Given the description of an element on the screen output the (x, y) to click on. 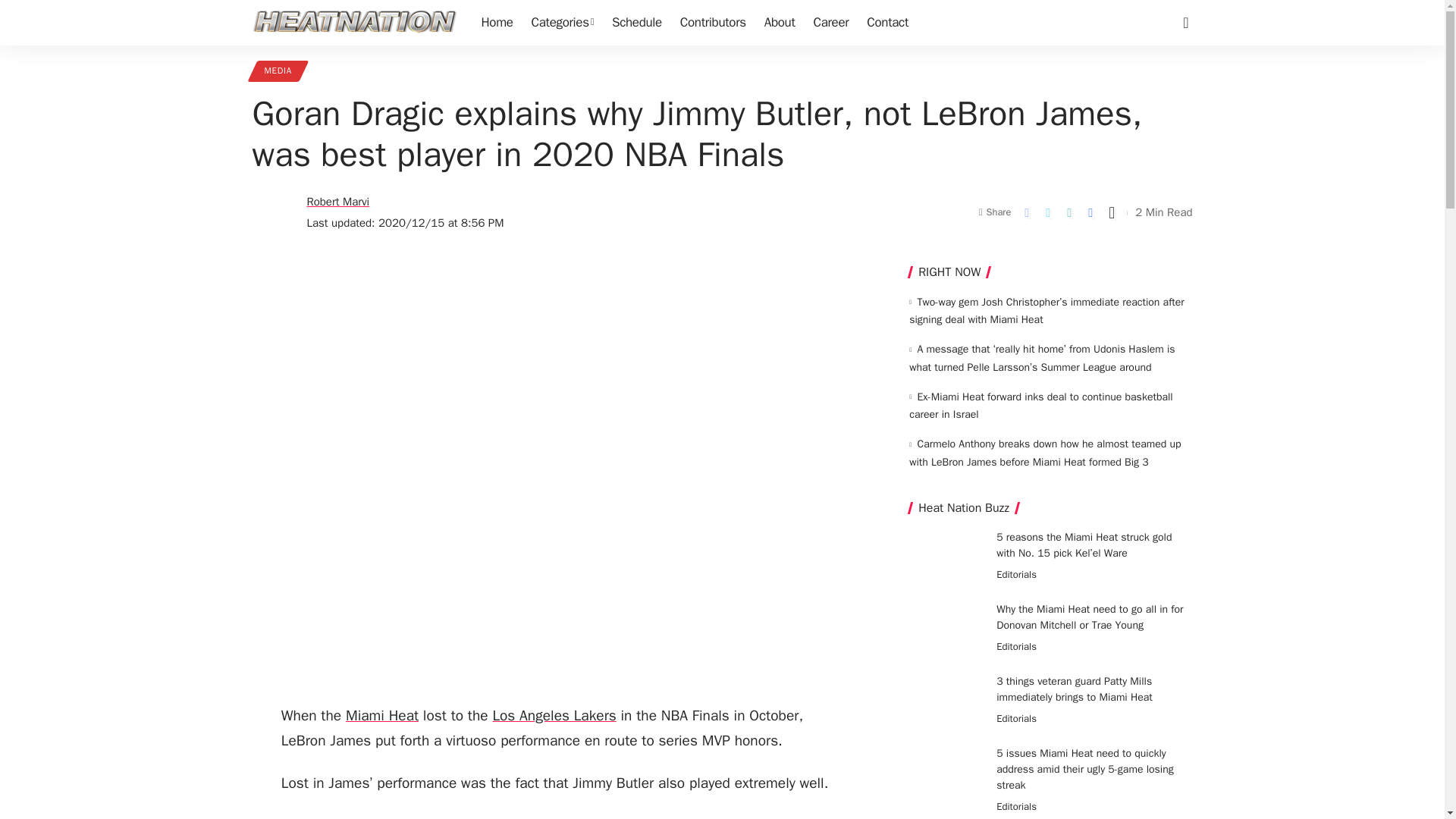
MEDIA (276, 70)
Los Angeles Lakers (553, 715)
Categories (562, 22)
Miami Heat (382, 715)
Los Angeles Lakers (553, 715)
Robert Marvi (337, 201)
About (780, 22)
Miami Heat (382, 715)
Contact (887, 22)
Home (496, 22)
Categories (562, 22)
Contributors (713, 22)
Career (830, 22)
